Given the description of an element on the screen output the (x, y) to click on. 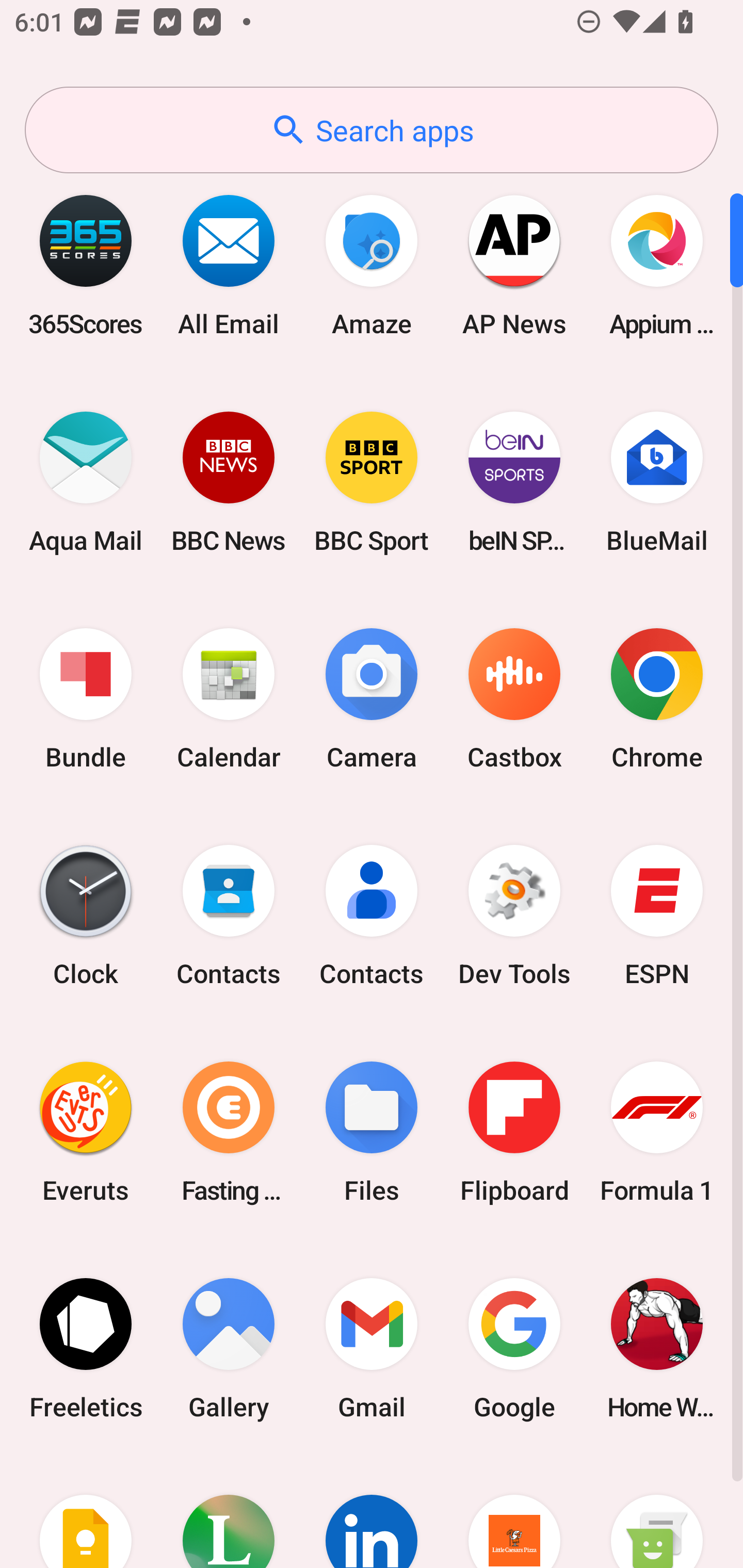
  Search apps (371, 130)
365Scores (85, 264)
All Email (228, 264)
Amaze (371, 264)
AP News (514, 264)
Appium Settings (656, 264)
Aqua Mail (85, 482)
BBC News (228, 482)
BBC Sport (371, 482)
beIN SPORTS (514, 482)
BlueMail (656, 482)
Bundle (85, 699)
Calendar (228, 699)
Camera (371, 699)
Castbox (514, 699)
Chrome (656, 699)
Clock (85, 915)
Contacts (228, 915)
Contacts (371, 915)
Dev Tools (514, 915)
ESPN (656, 915)
Everuts (85, 1131)
Fasting Coach (228, 1131)
Files (371, 1131)
Flipboard (514, 1131)
Formula 1 (656, 1131)
Freeletics (85, 1348)
Gallery (228, 1348)
Gmail (371, 1348)
Google (514, 1348)
Home Workout (656, 1348)
